Given the description of an element on the screen output the (x, y) to click on. 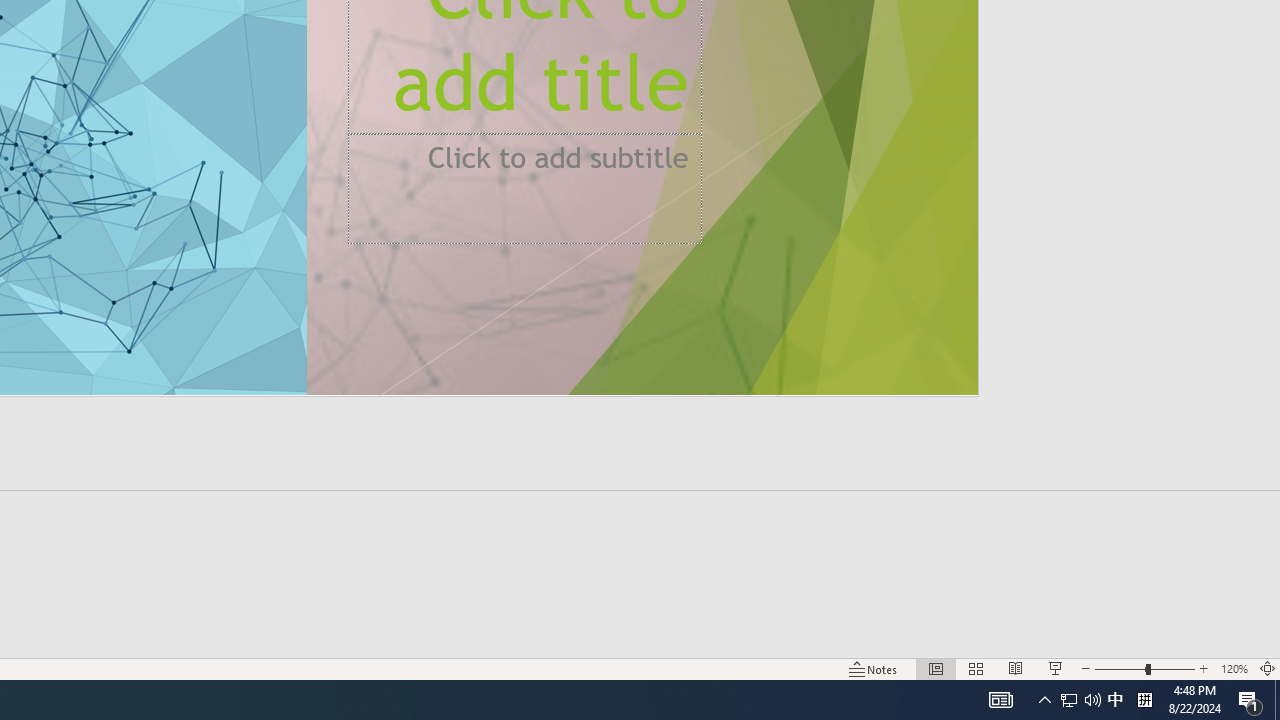
Zoom 120% (1234, 668)
